Given the description of an element on the screen output the (x, y) to click on. 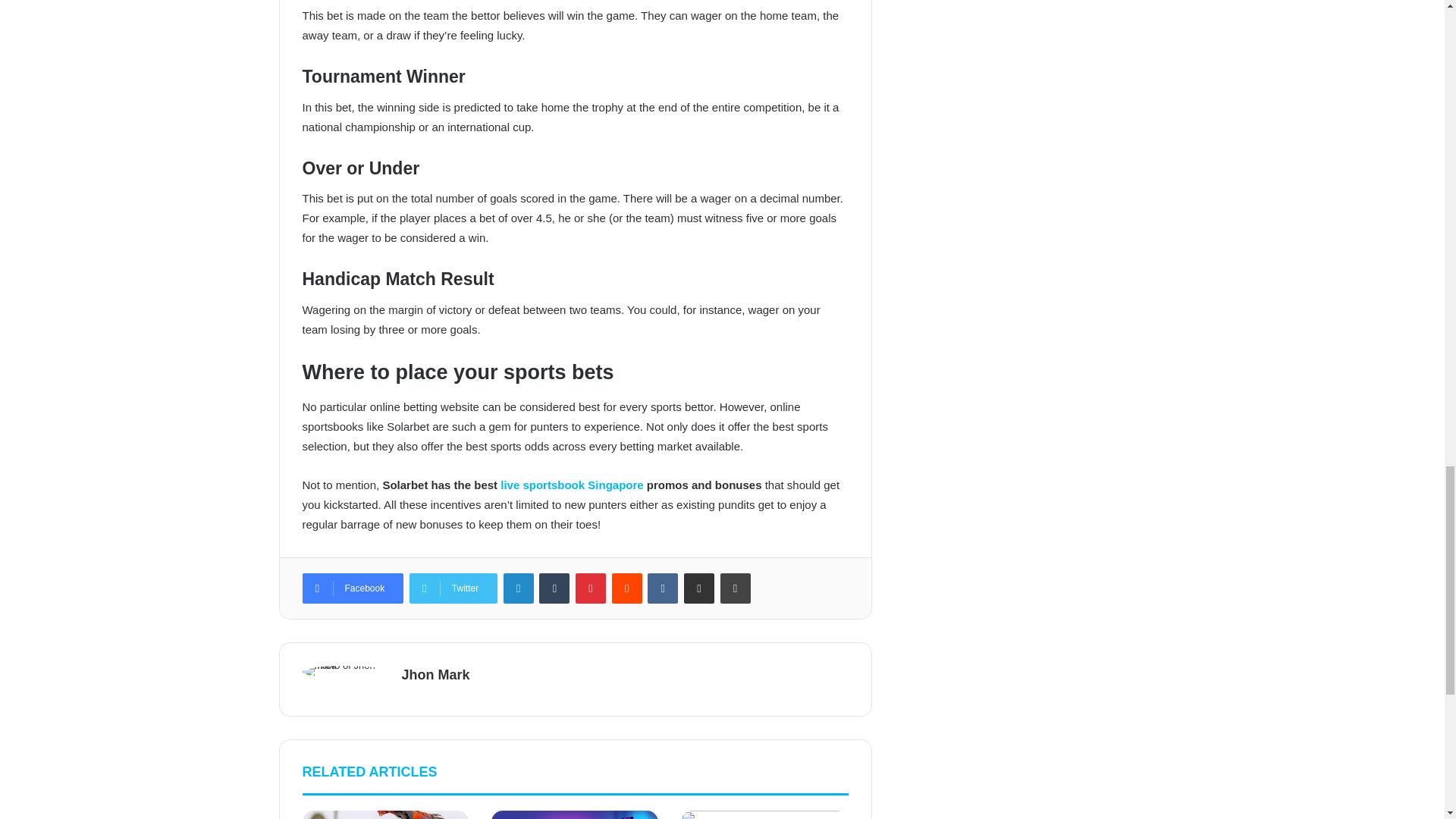
Jhon Mark (435, 674)
Share via Email (699, 588)
Facebook (352, 588)
Tumblr (553, 588)
Share via Email (699, 588)
Pinterest (590, 588)
live sportsbook Singapore (573, 484)
Twitter (453, 588)
Reddit (626, 588)
Print (735, 588)
